Given the description of an element on the screen output the (x, y) to click on. 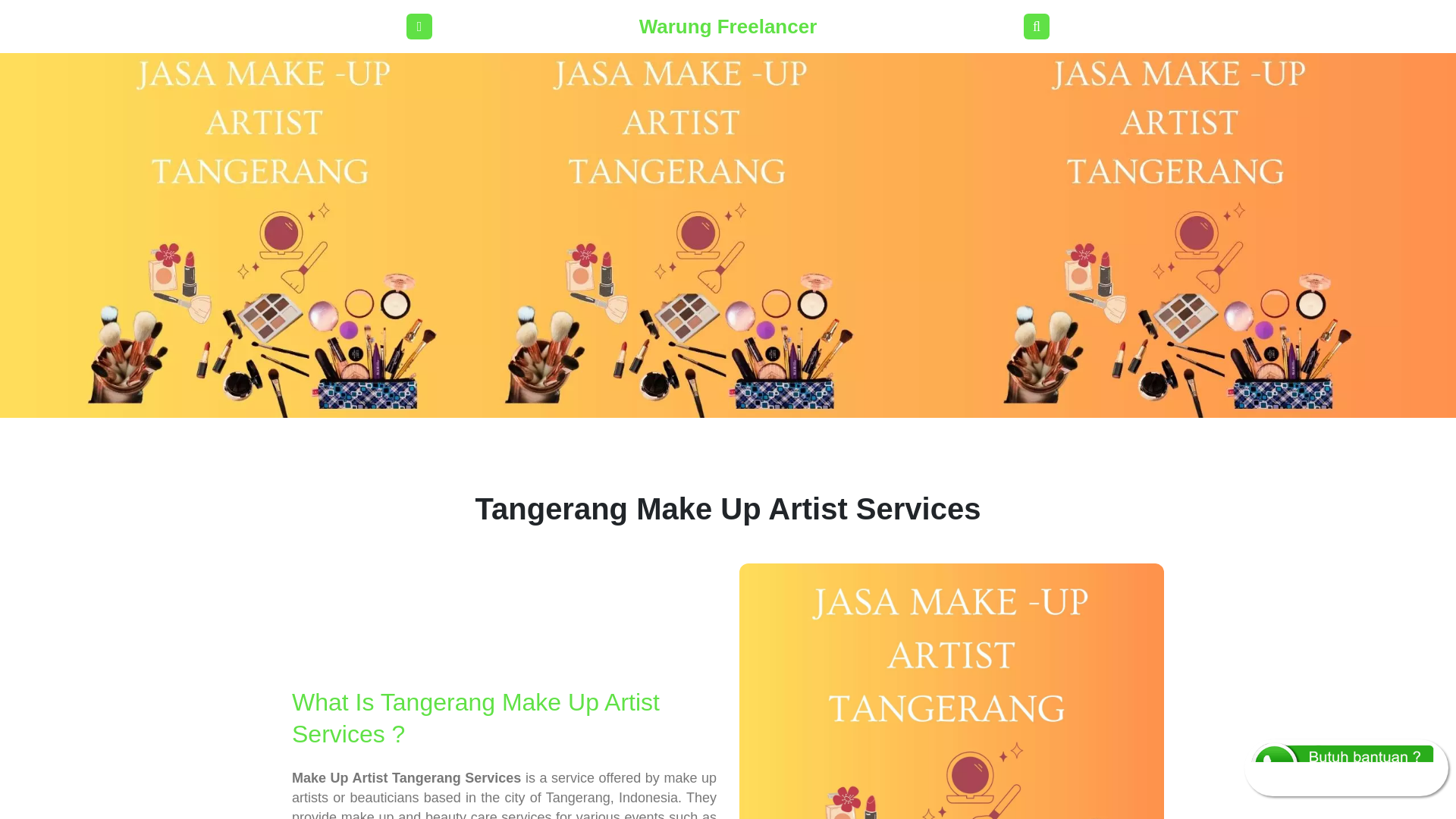
Tangerang Make Up Artist Services (951, 691)
Jasa Make Up Artist Tangerang (419, 26)
search (1036, 26)
Freelance Digital Marketing Services (727, 26)
Warung Freelancer (727, 26)
